Given the description of an element on the screen output the (x, y) to click on. 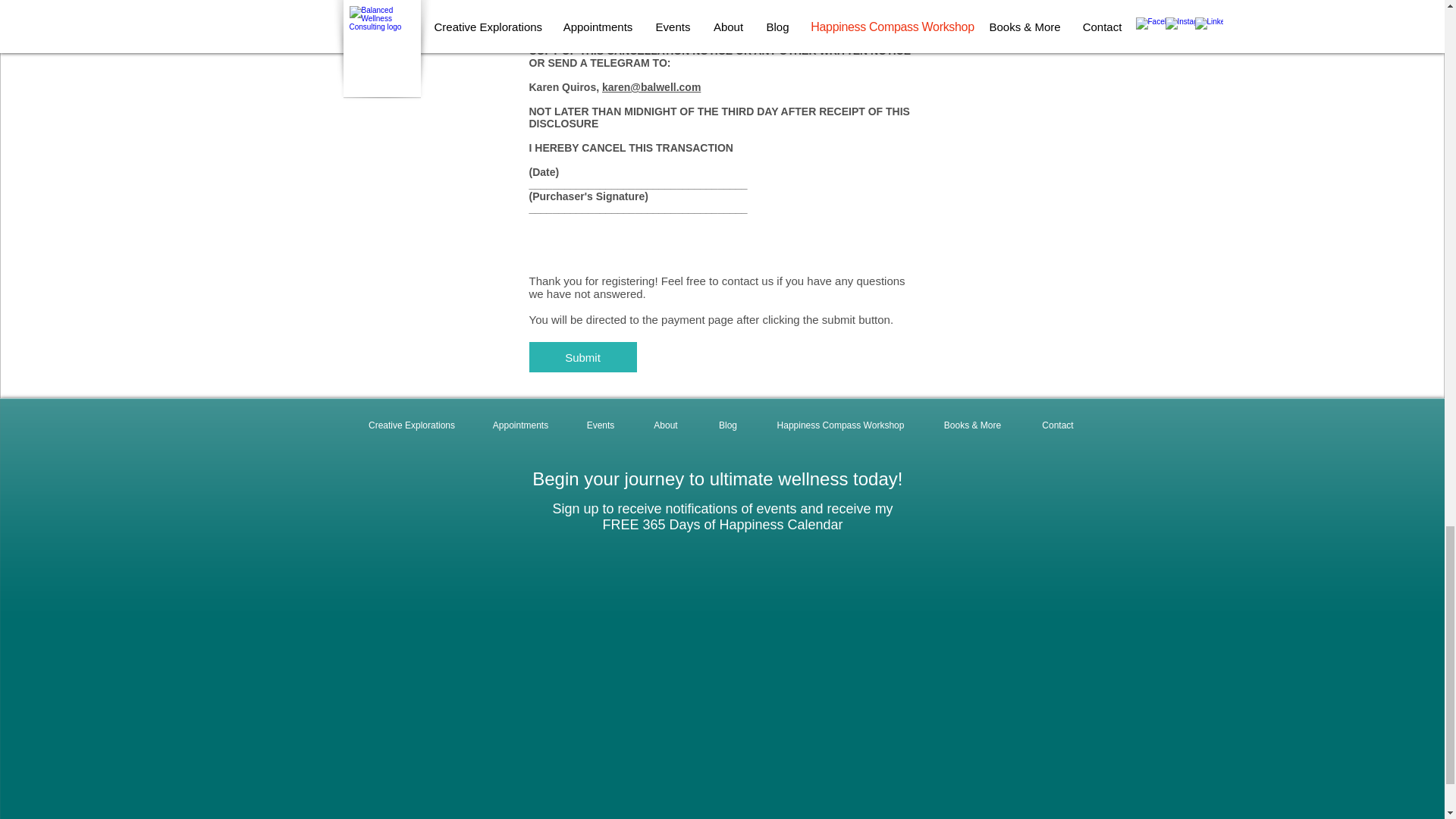
About (664, 425)
Blog (727, 425)
Creative Explorations (410, 425)
Events (599, 425)
Submit (583, 357)
Appointments (520, 425)
